Given the description of an element on the screen output the (x, y) to click on. 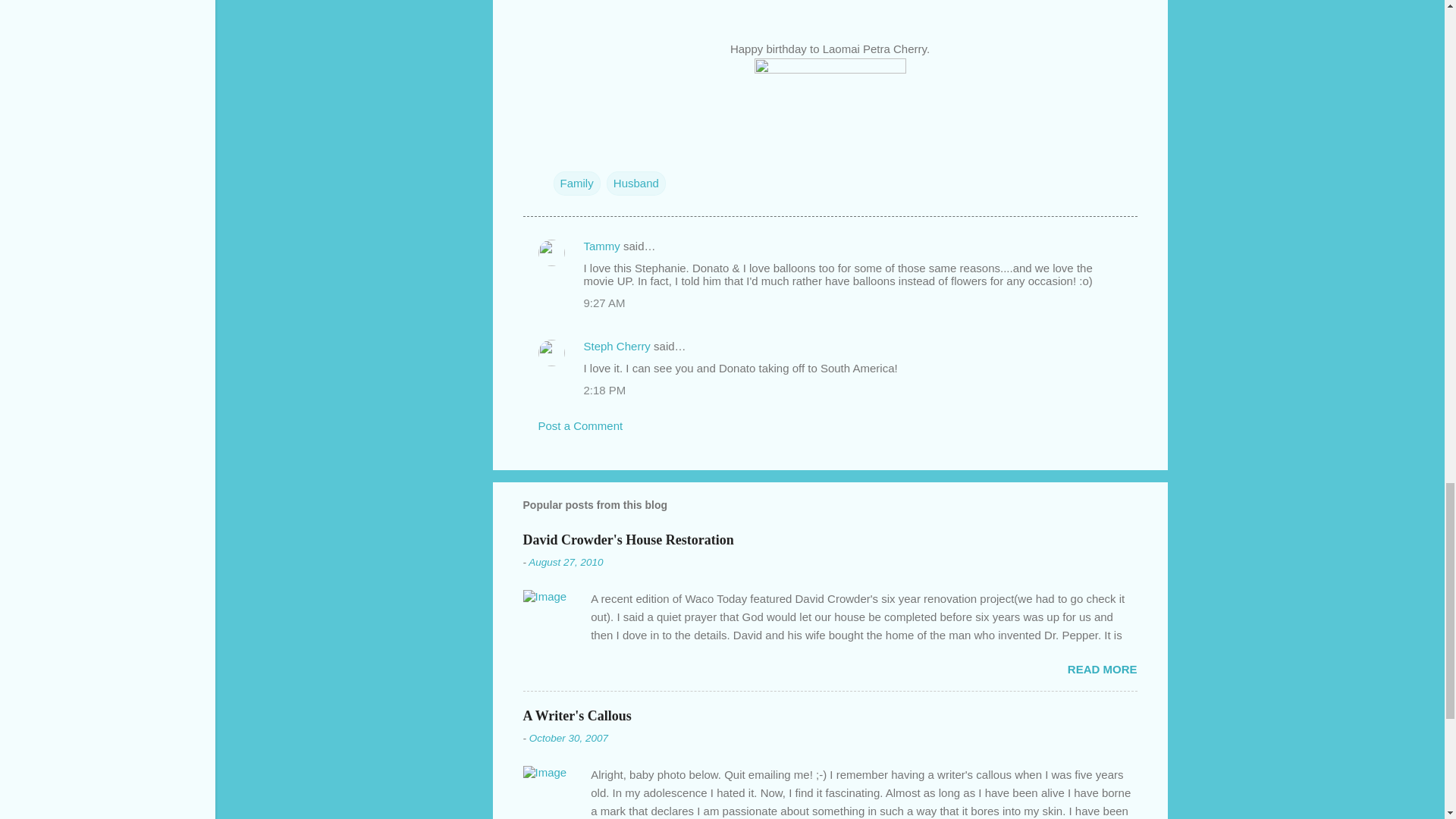
October 30, 2007 (568, 737)
David Crowder's House Restoration (627, 539)
Steph Cherry (616, 345)
Post a Comment (580, 425)
Email Post (562, 151)
9:27 AM (604, 302)
Husband (636, 183)
August 27, 2010 (565, 562)
Tammy (601, 245)
Family (576, 183)
comment permalink (604, 302)
READ MORE (1102, 668)
A Writer's Callous (576, 715)
2:18 PM (604, 390)
